Given the description of an element on the screen output the (x, y) to click on. 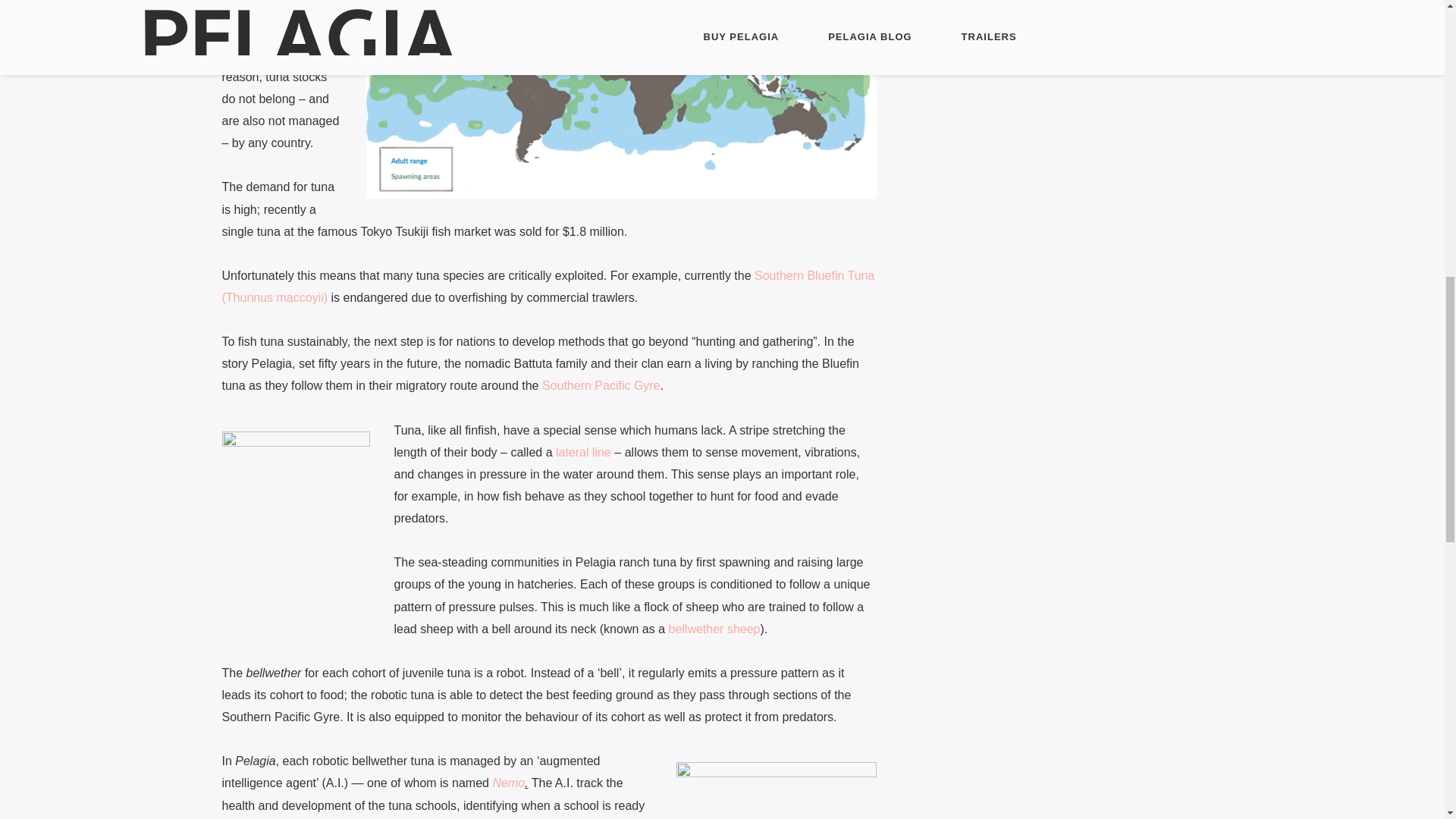
Southern Pacific Gyre (601, 385)
Nemo (508, 782)
lateral line (583, 451)
bellwether sheep (714, 628)
